Given the description of an element on the screen output the (x, y) to click on. 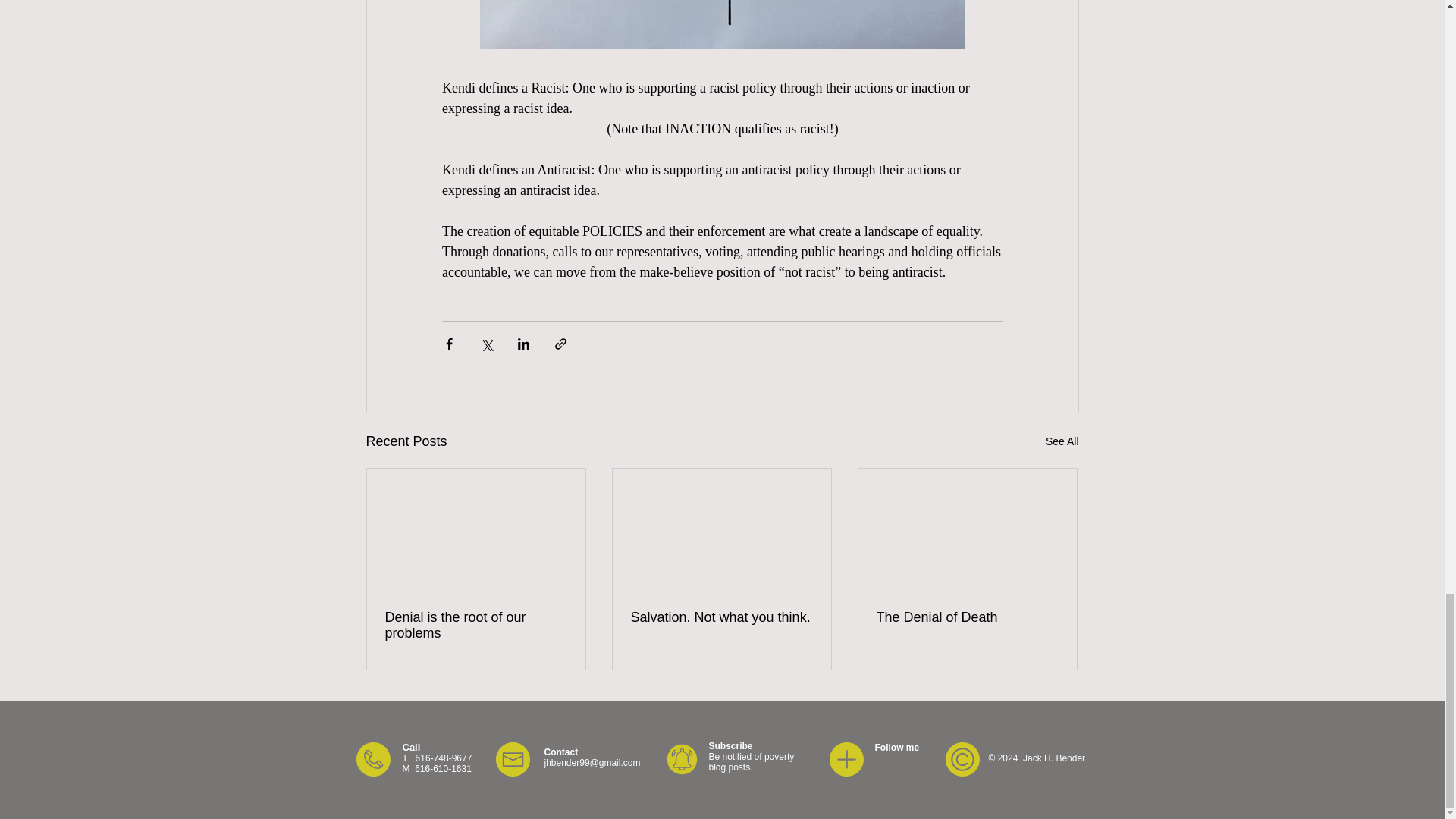
Salvation. Not what you think. (721, 617)
See All (1061, 441)
Be notified of poverty blog posts. (750, 762)
Denial is the root of our problems (476, 625)
The Denial of Death (967, 617)
Subscribe (729, 746)
